Given the description of an element on the screen output the (x, y) to click on. 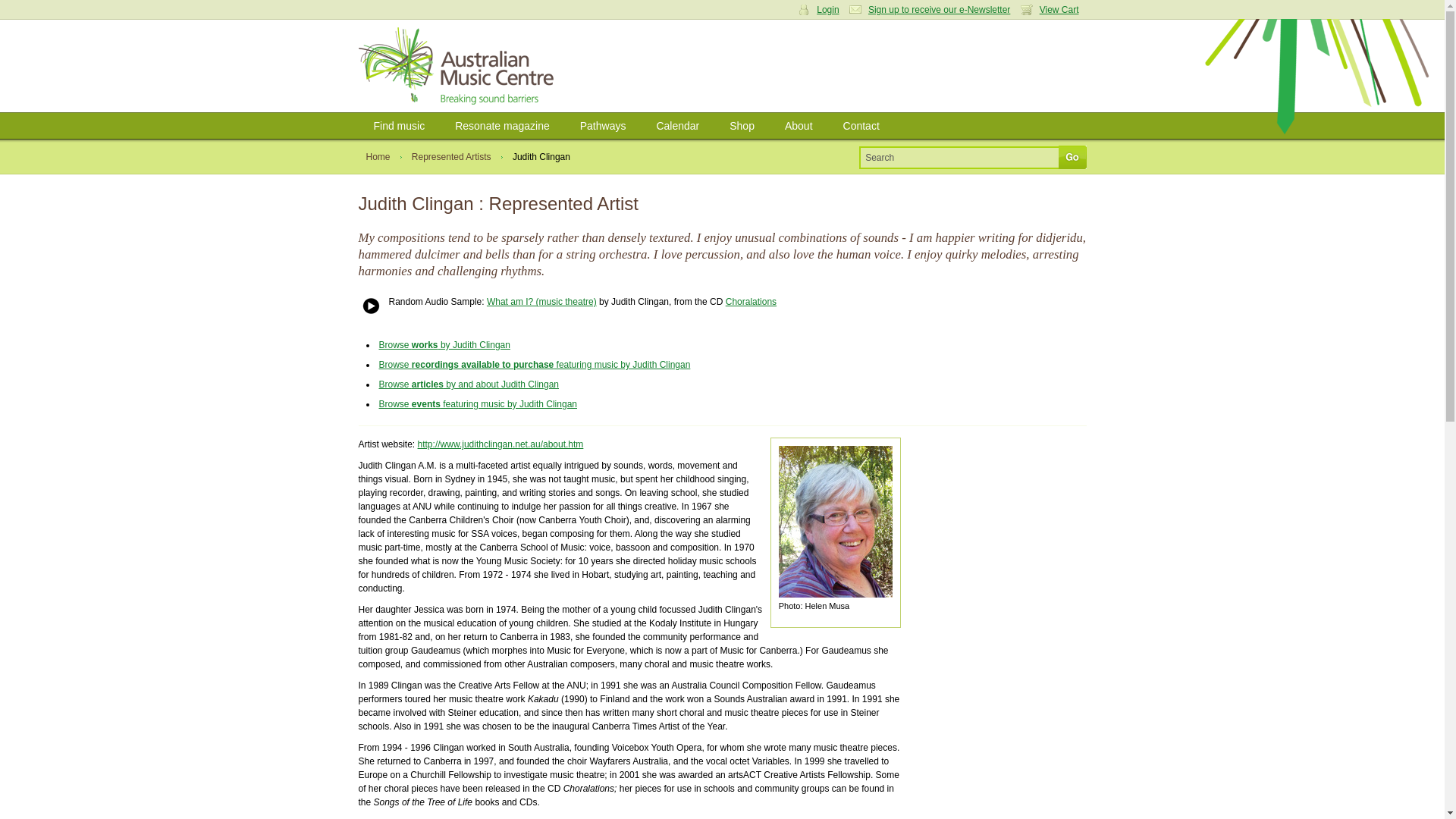
View Cart (1053, 9)
Login (821, 9)
Calendar (677, 125)
Resonate magazine (501, 125)
Go (1072, 156)
Find music (398, 125)
Calendar (677, 125)
Login (371, 132)
Pathways (603, 125)
Sign up to receive our e-Newsletter (932, 9)
Pathways (603, 125)
Shop (742, 125)
About (799, 125)
Find music (398, 125)
Search (960, 156)
